Given the description of an element on the screen output the (x, y) to click on. 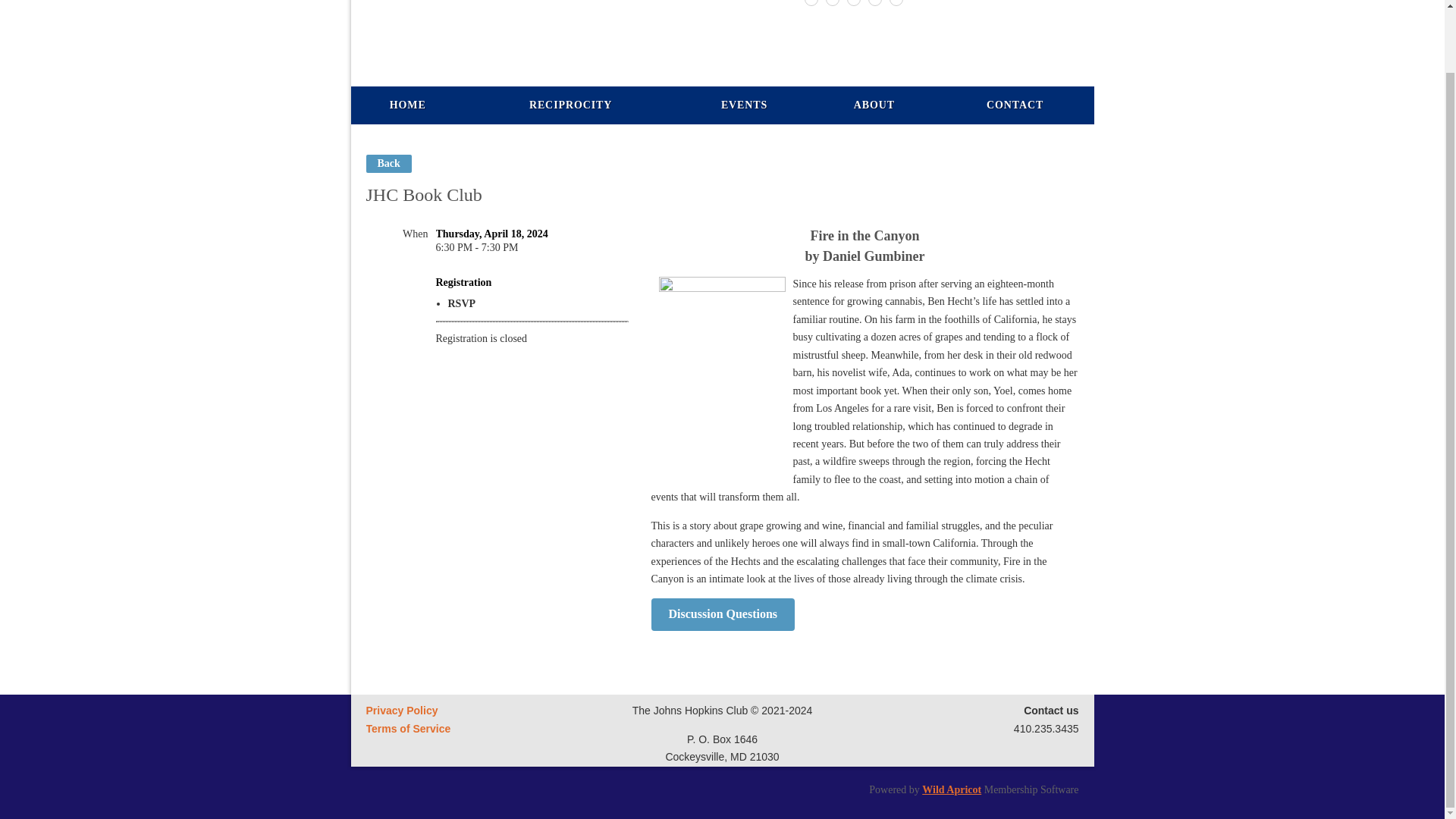
Discussion Questions (722, 614)
Privacy Policy (401, 710)
Reciprocity (570, 105)
Contact (1015, 105)
Terms of Service (407, 728)
Home (407, 105)
EVENTS (744, 105)
Back (387, 163)
HOME (407, 105)
ABOUT (874, 105)
Wild Apricot (951, 789)
About (874, 105)
CONTACT (1015, 105)
Events (744, 105)
RECIPROCITY (570, 105)
